Given the description of an element on the screen output the (x, y) to click on. 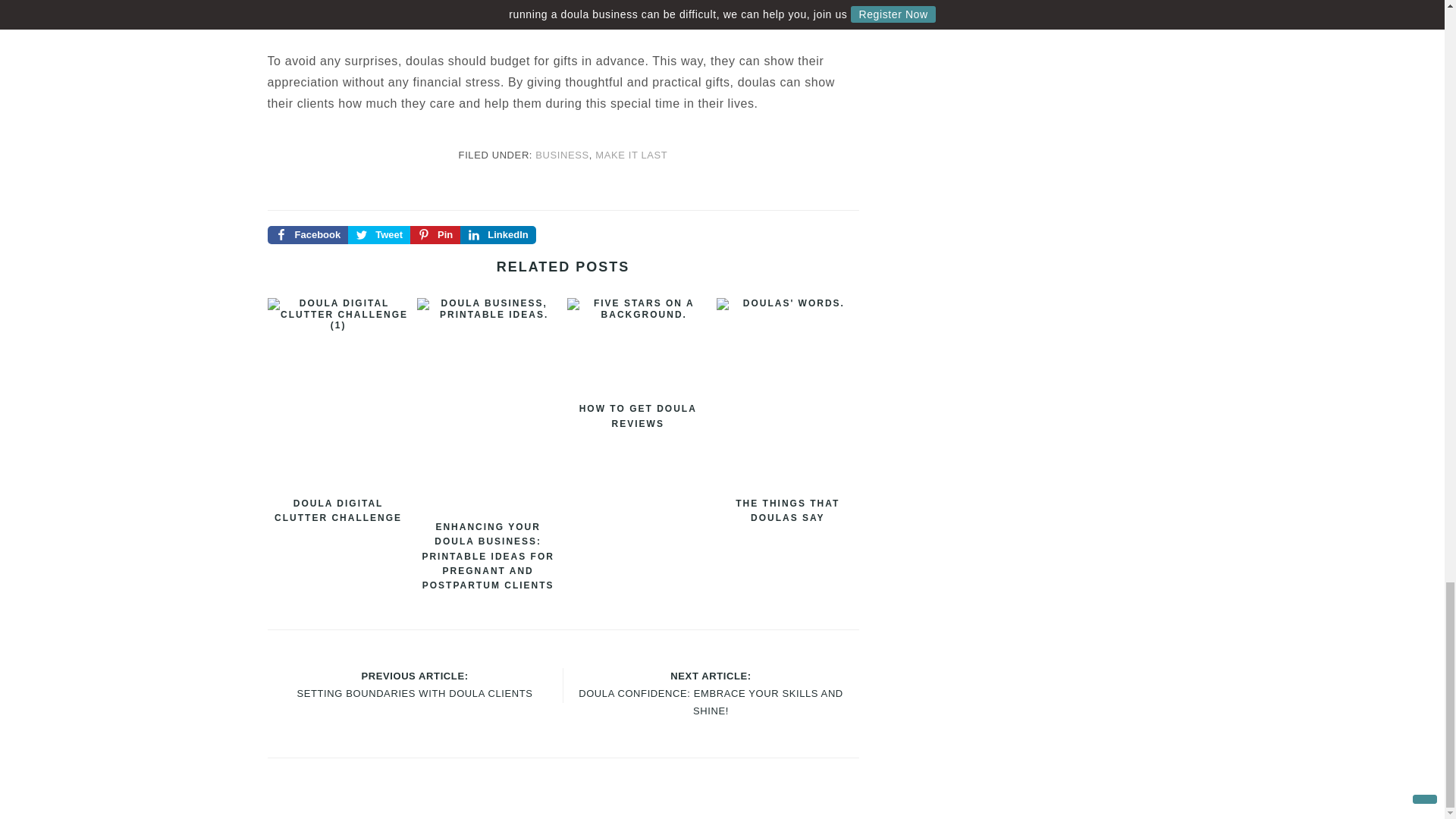
LinkedIn (497, 235)
Share on Facebook (306, 235)
MAKE IT LAST (630, 154)
Facebook (306, 235)
SETTING BOUNDARIES WITH DOULA CLIENTS (414, 693)
Pin (435, 235)
DOULA CONFIDENCE: EMBRACE YOUR SKILLS AND SHINE! (710, 702)
BUSINESS (562, 154)
Share on Twitter (378, 235)
Tweet (378, 235)
